Given the description of an element on the screen output the (x, y) to click on. 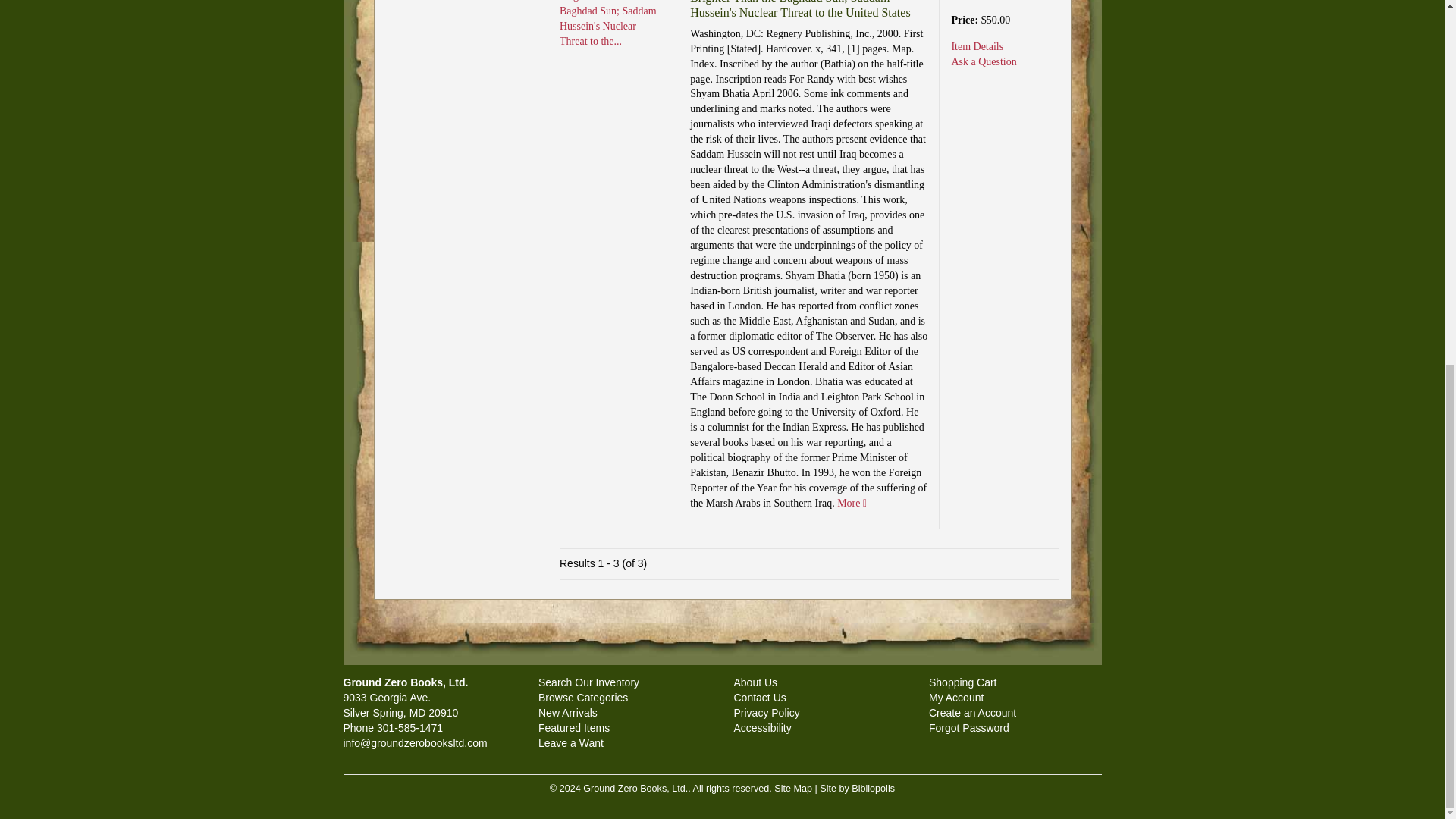
Site by Bibliopolis (857, 787)
